Given the description of an element on the screen output the (x, y) to click on. 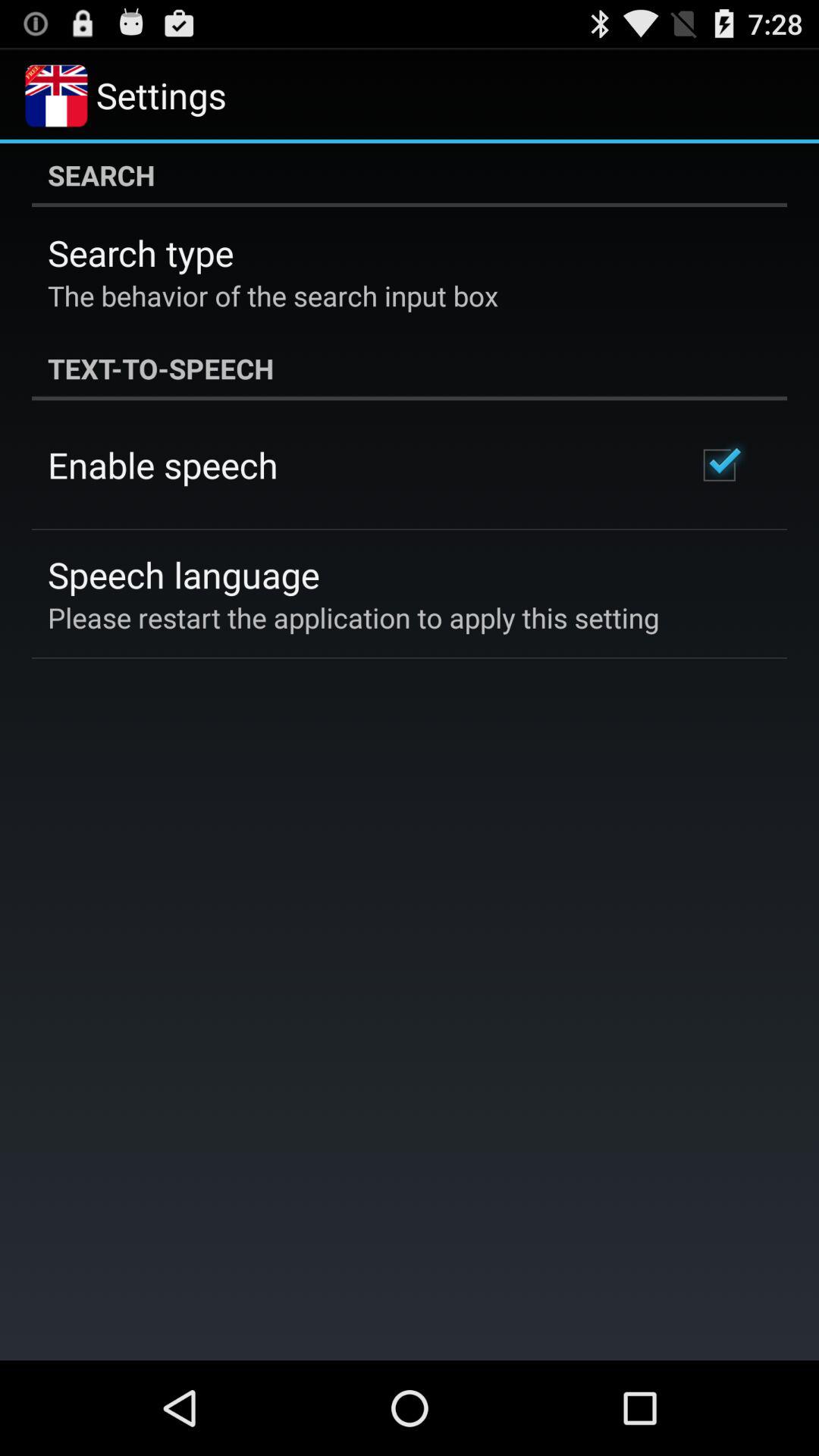
choose the item above the speech language item (162, 464)
